Given the description of an element on the screen output the (x, y) to click on. 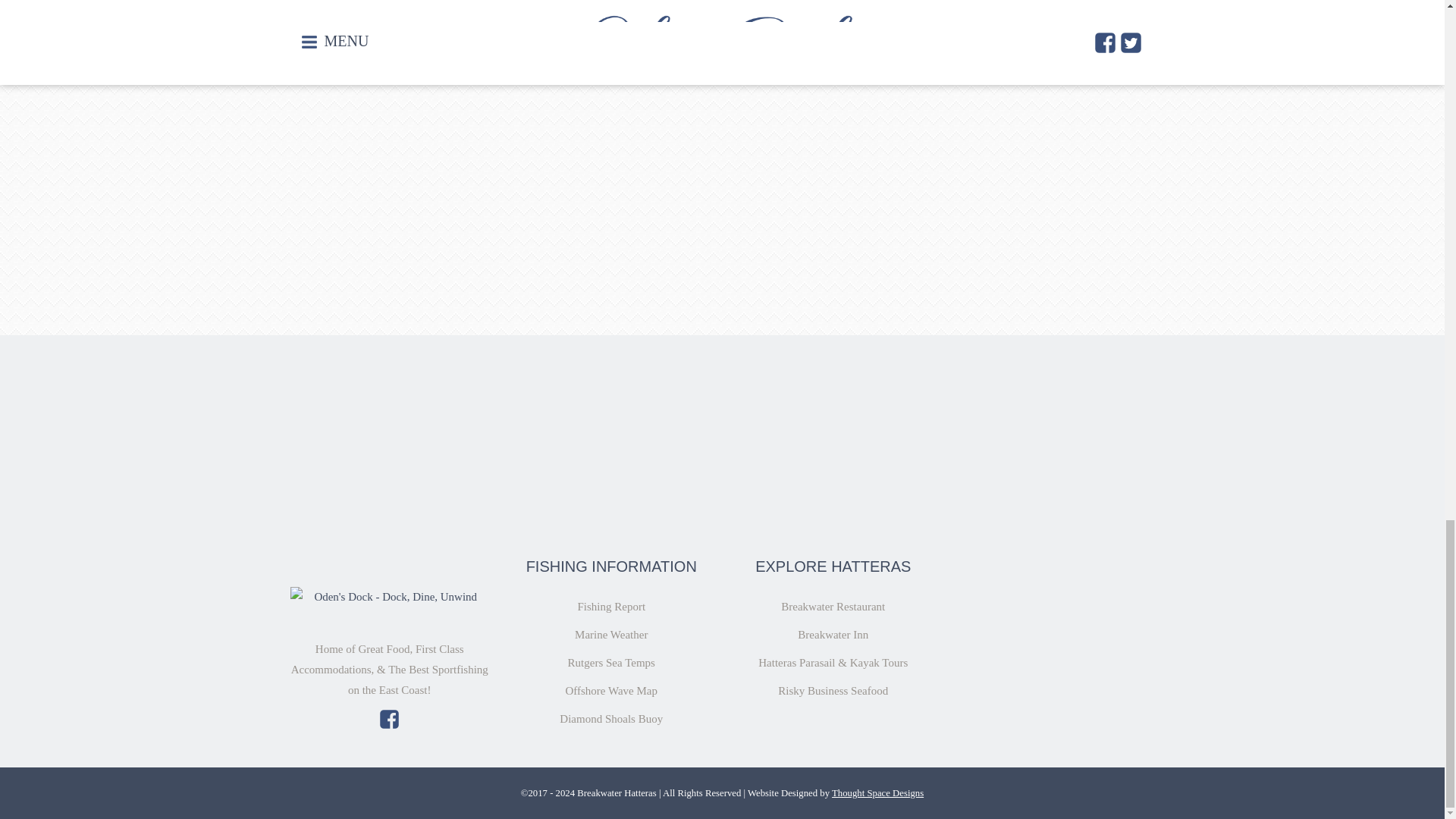
Breakwater Restaurant (832, 606)
Marine Weather (611, 634)
Thought Space Designs (877, 792)
Offshore Wave Map (611, 690)
Diamond Shoals Buoy (610, 718)
Breakwater Inn (832, 634)
Rutgers Sea Temps (611, 662)
Risky Business Seafood (832, 690)
Fishing Report (610, 606)
